Given the description of an element on the screen output the (x, y) to click on. 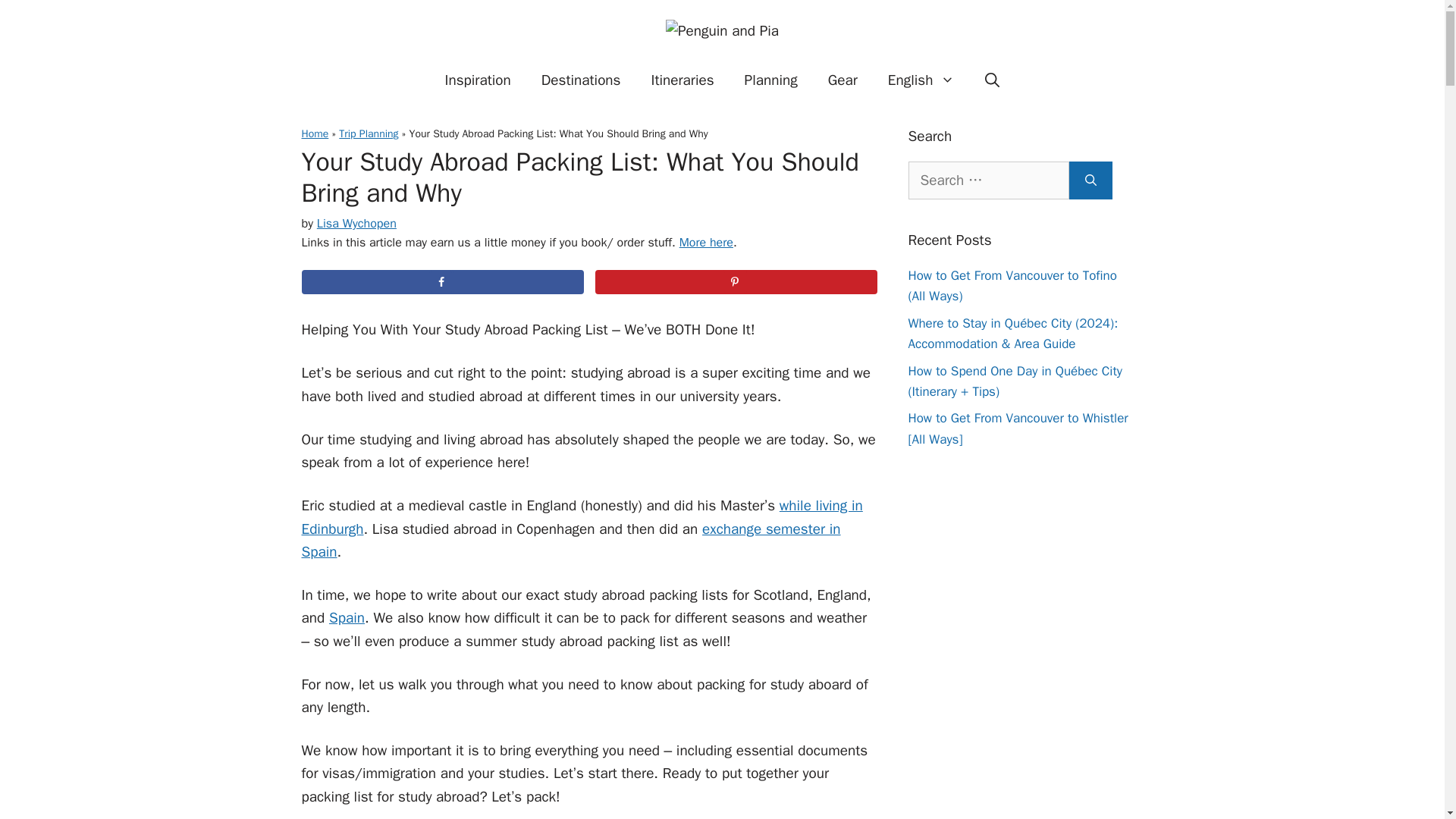
Planning (770, 80)
Trip Planning (368, 133)
More here (706, 242)
Share on Facebook (442, 282)
Gear (842, 80)
Destinations (580, 80)
while living in Edinburgh (582, 516)
Lisa Wychopen (356, 222)
Save to Pinterest (736, 282)
View all posts by Lisa Wychopen (356, 222)
